Given the description of an element on the screen output the (x, y) to click on. 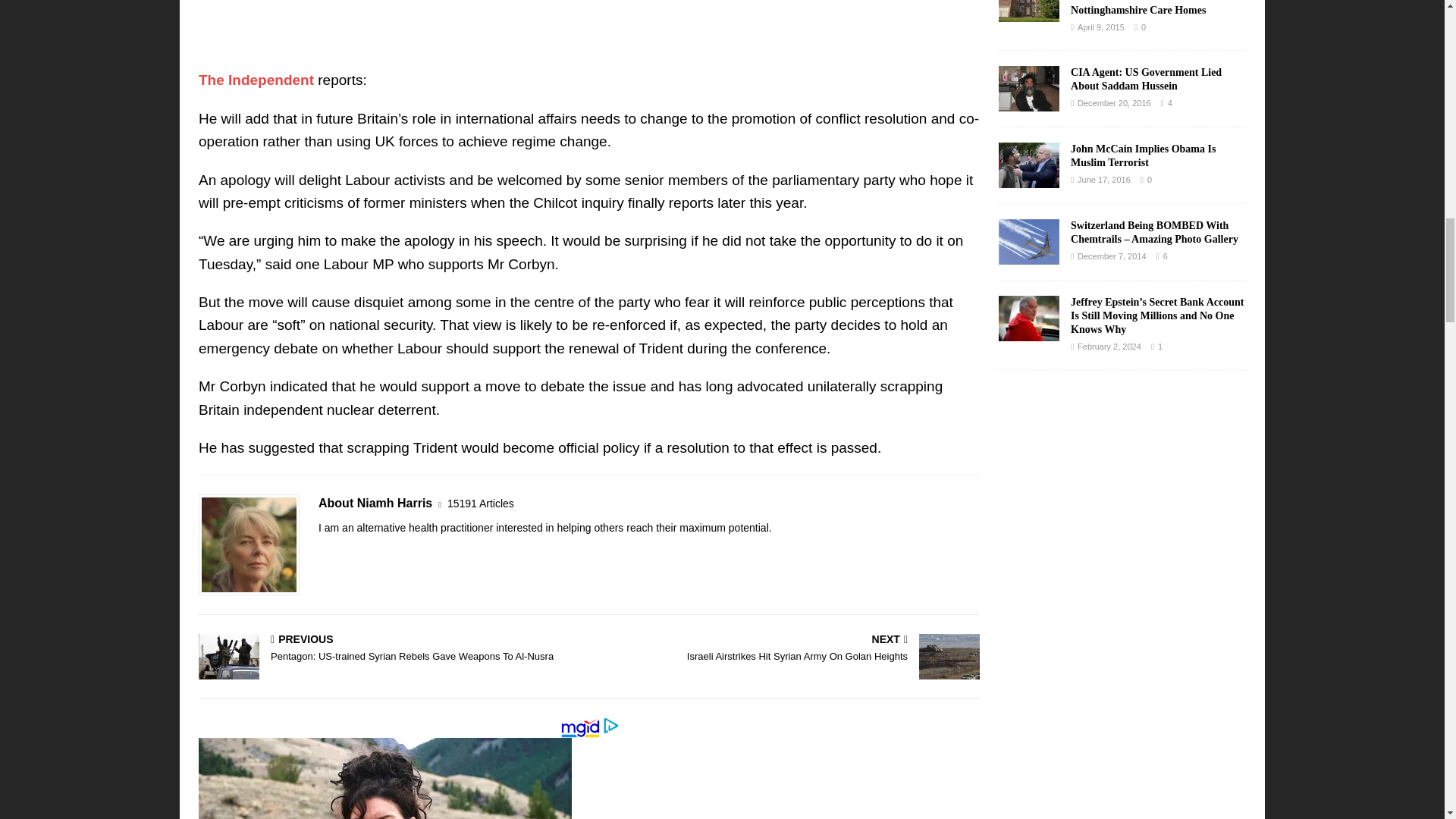
More articles written by Niamh Harris' (479, 503)
